Given the description of an element on the screen output the (x, y) to click on. 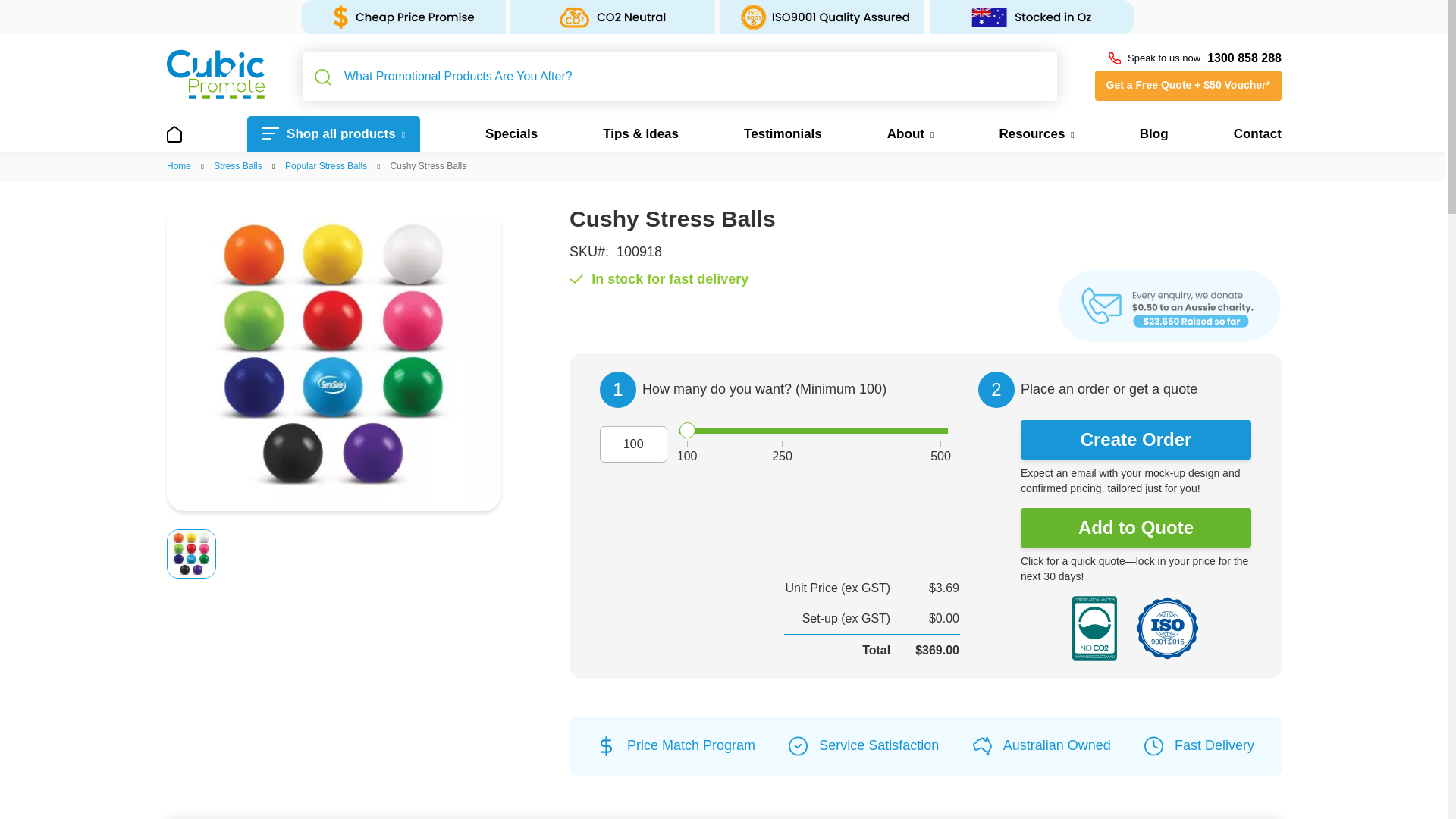
Resources (1036, 133)
Stress Balls (238, 165)
Cubic Promote (215, 73)
Home (178, 165)
Create Order (1135, 439)
Testimonials (783, 133)
Stress Balls (238, 165)
100 (632, 443)
About (909, 133)
Search (322, 76)
Add to Quote (1135, 527)
Create Order (1135, 439)
Popular Stress Balls (325, 165)
100 (813, 430)
Shop all products (333, 133)
